Given the description of an element on the screen output the (x, y) to click on. 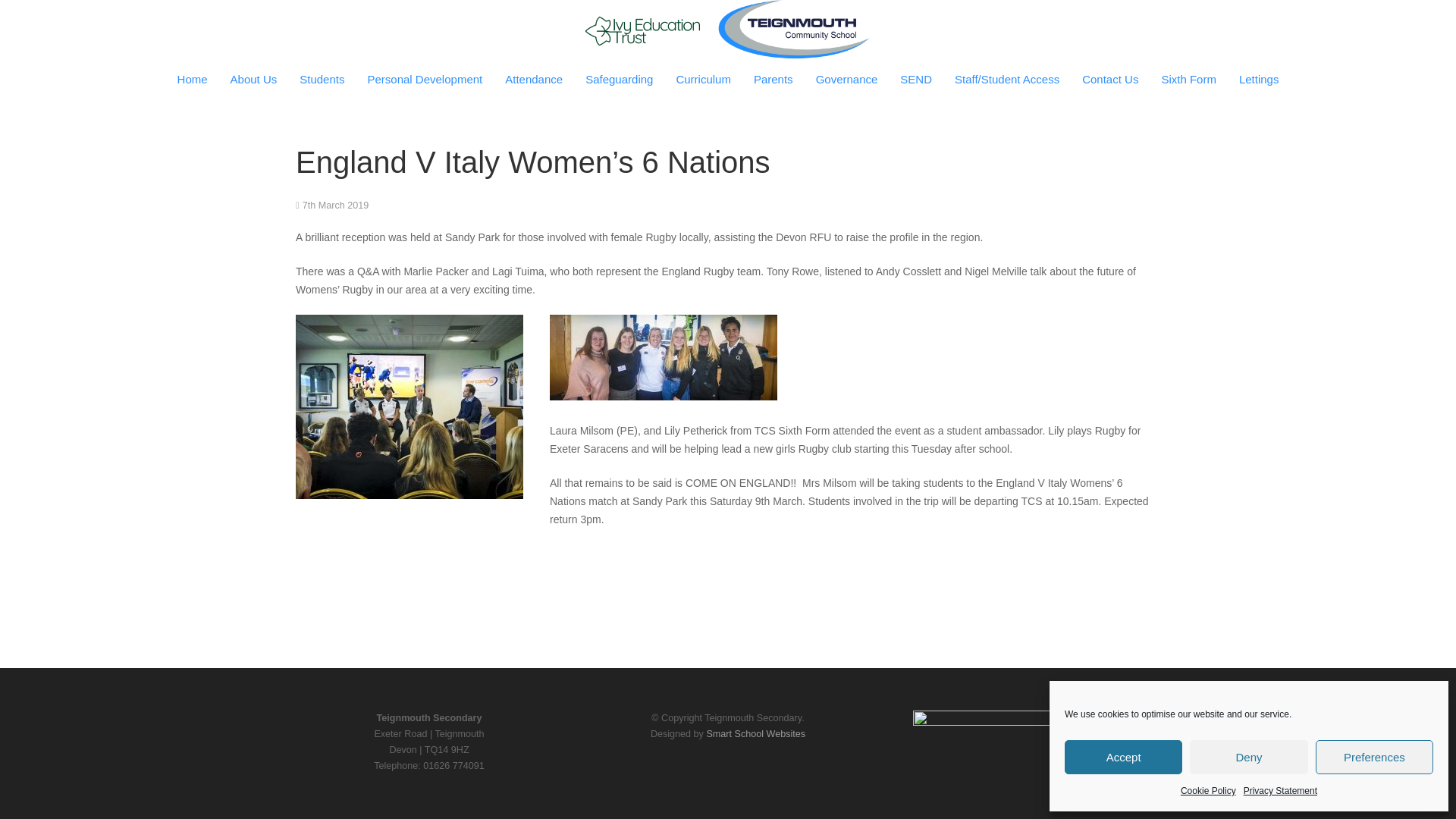
Personal Development (424, 78)
Home (192, 78)
Accept (1123, 756)
Deny (1248, 756)
Cookie Policy (1208, 791)
About Us (253, 78)
Students (321, 78)
Privacy Statement (1280, 791)
Preferences (1374, 756)
